Given the description of an element on the screen output the (x, y) to click on. 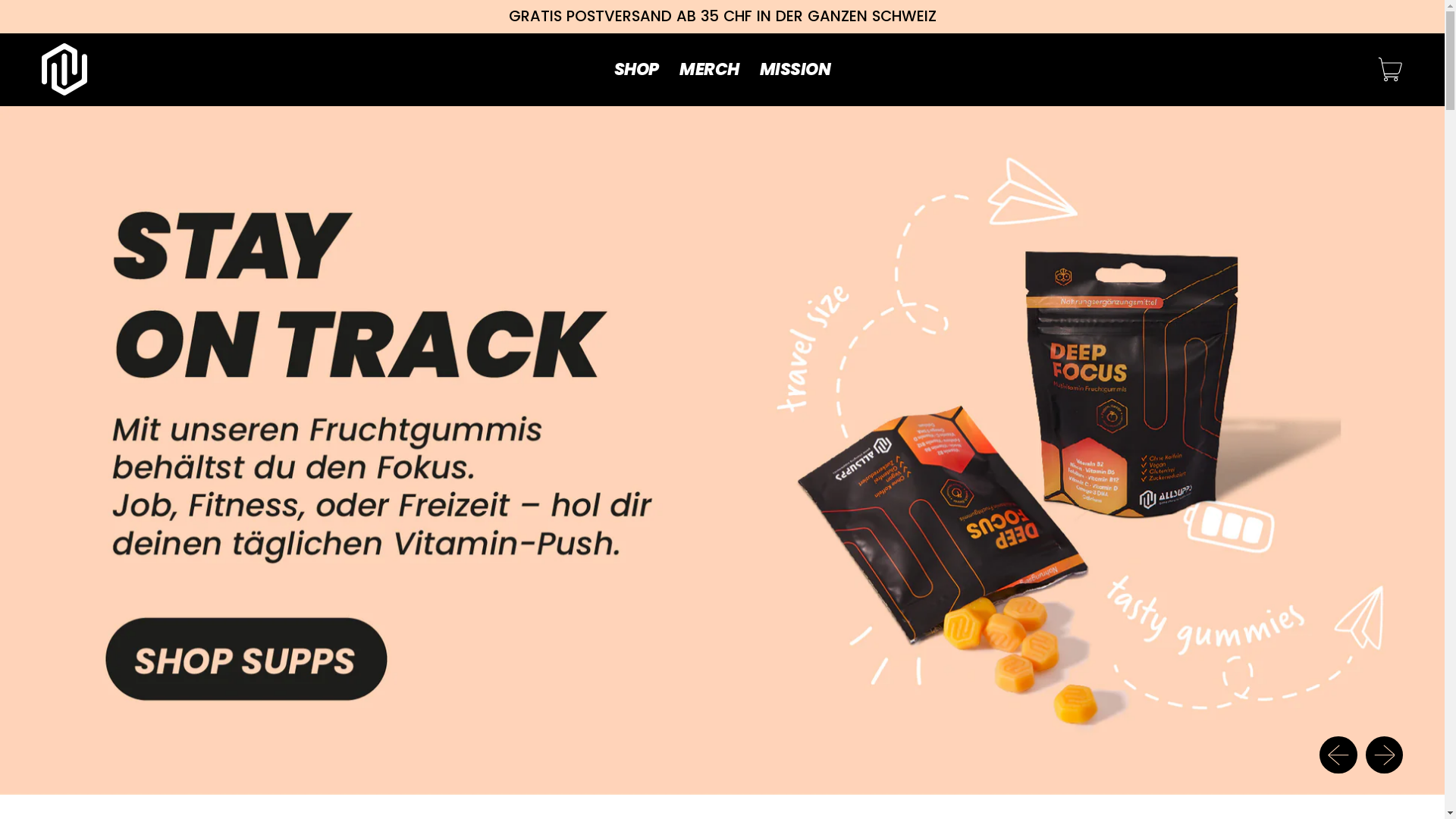
MISSION Element type: text (794, 69)
EINKAUFSWAGEN
ARTIKEL Element type: text (1390, 69)
Vorheriges Bild Element type: text (1338, 755)
SHOP Element type: text (635, 69)
MERCH Element type: text (708, 69)
